Given the description of an element on the screen output the (x, y) to click on. 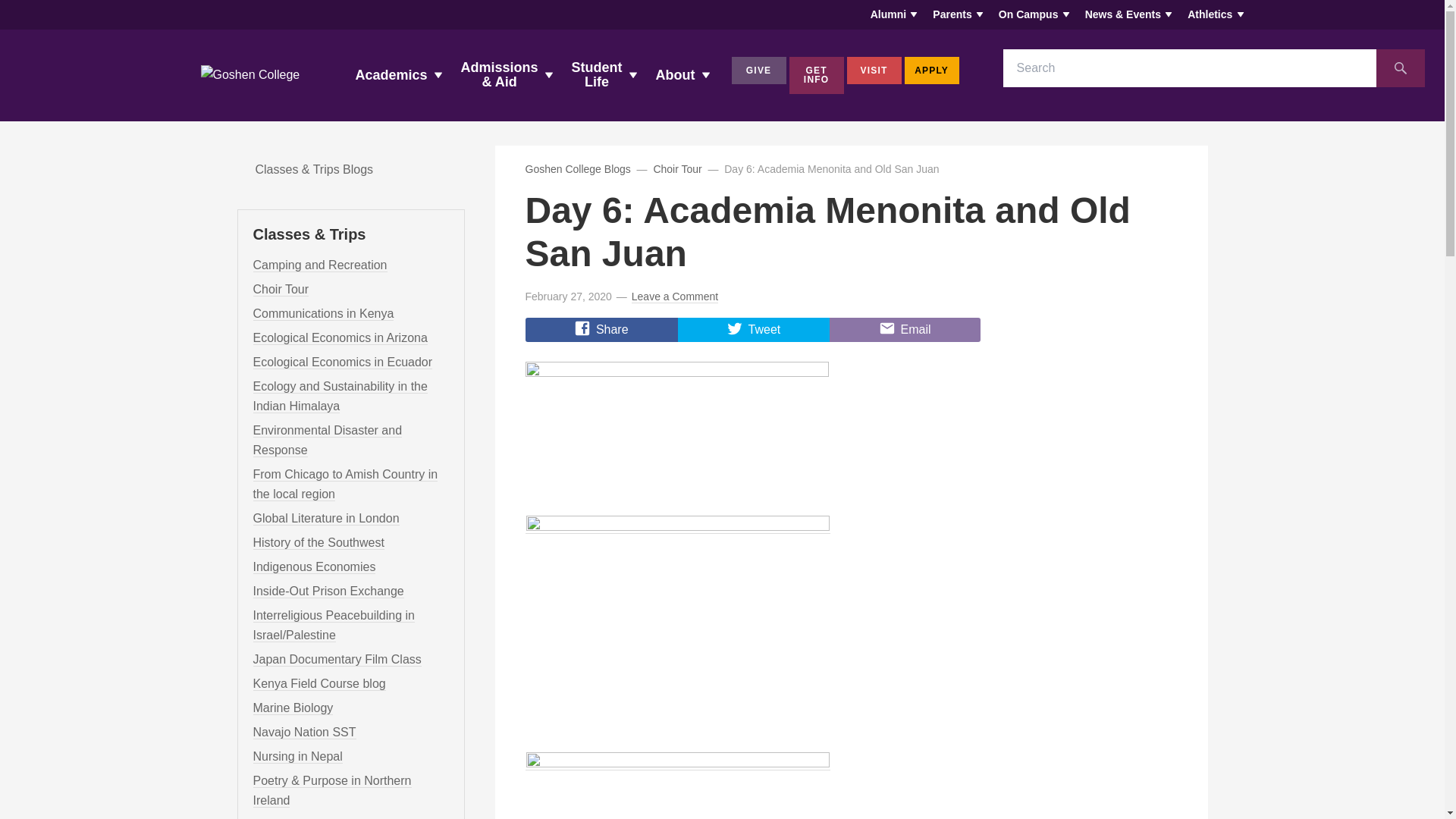
2019 Goshen College Chamber Choir and Orchestra. (280, 289)
Navajo Nation SST 2024 (304, 732)
Share on Facebook (600, 329)
Share on Twitter (753, 329)
May 2023 (333, 625)
Share via Email (904, 329)
